Given the description of an element on the screen output the (x, y) to click on. 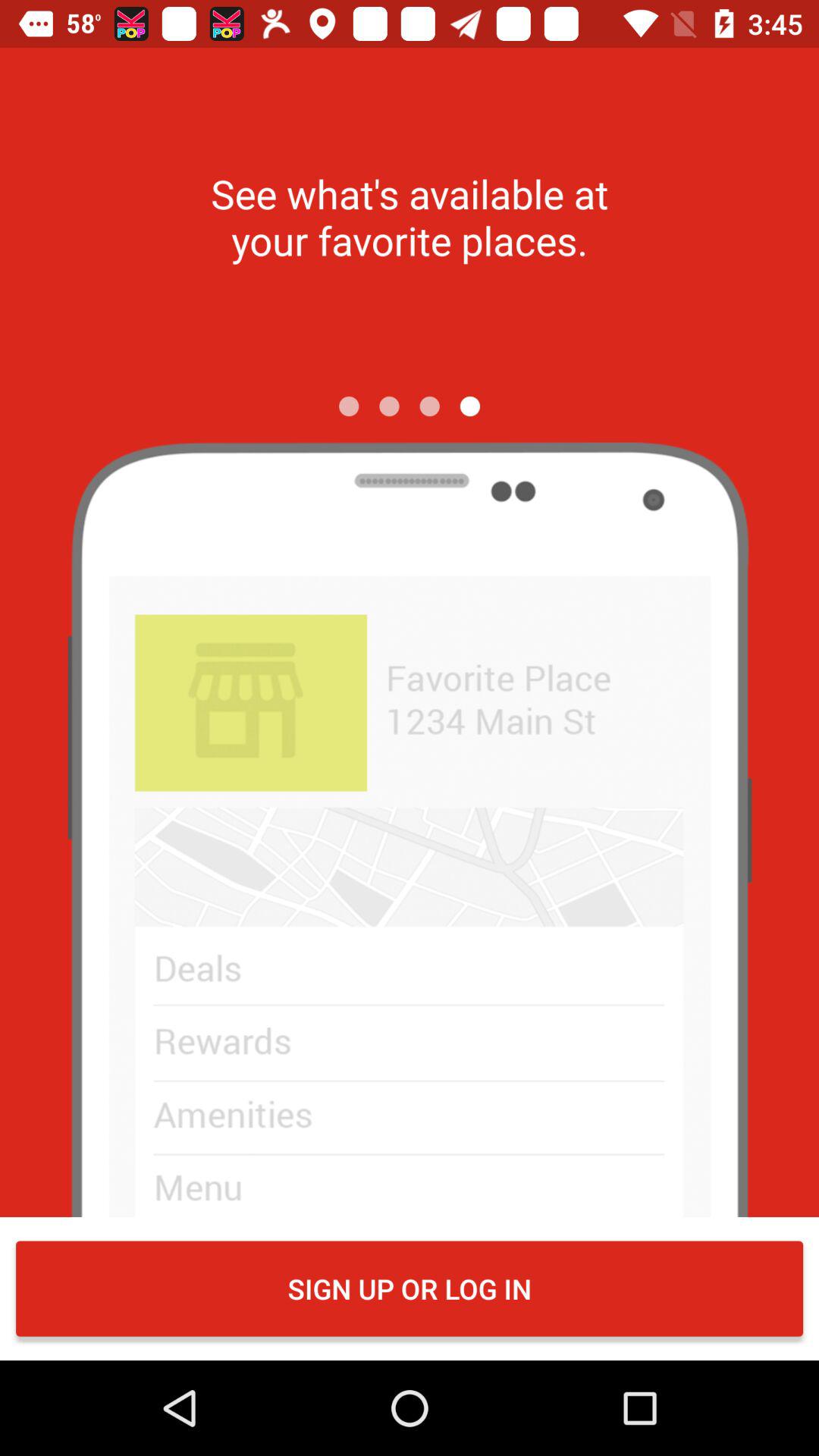
press the icon below the see what s icon (429, 406)
